Given the description of an element on the screen output the (x, y) to click on. 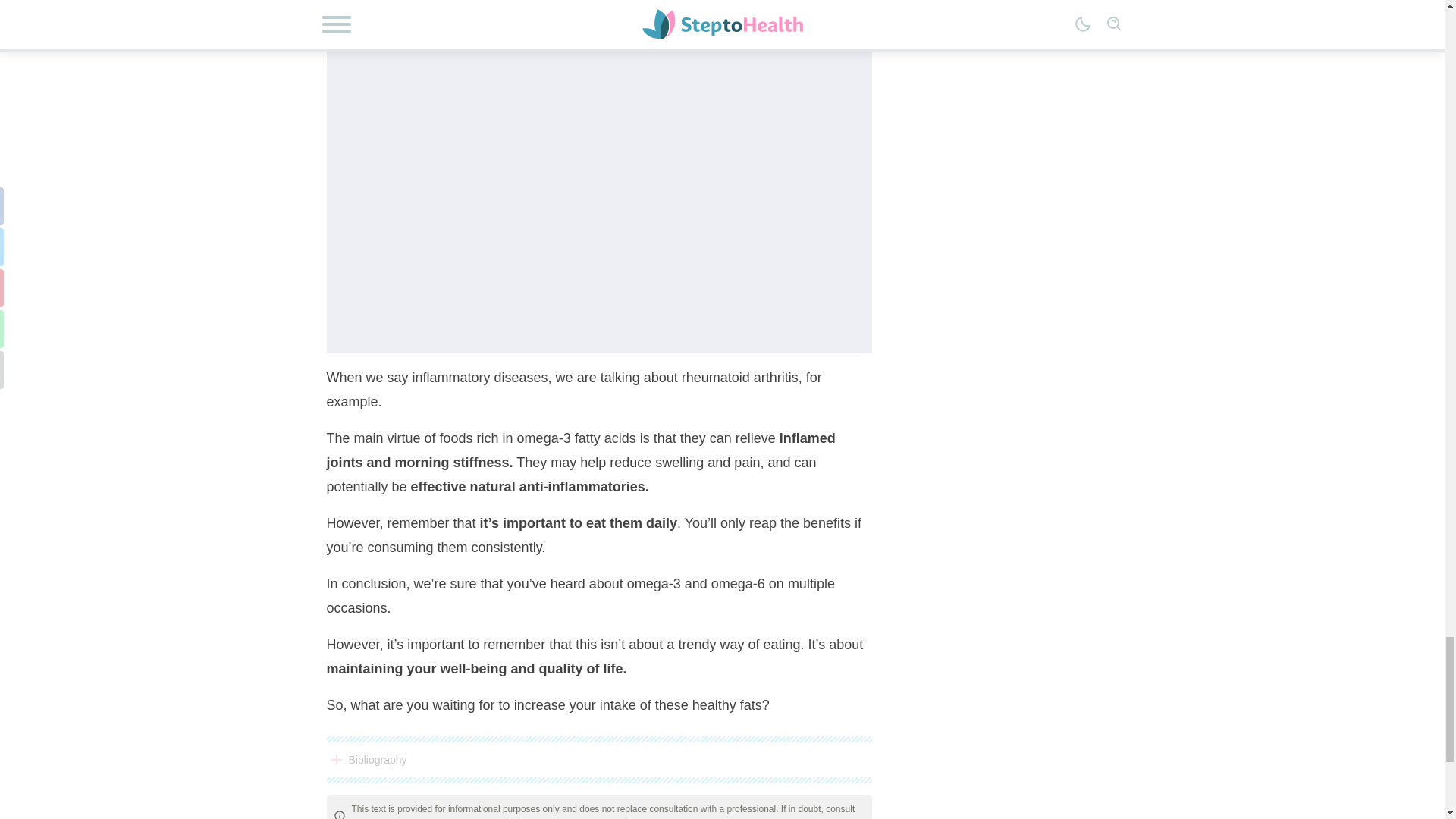
Bibliography (598, 759)
